Given the description of an element on the screen output the (x, y) to click on. 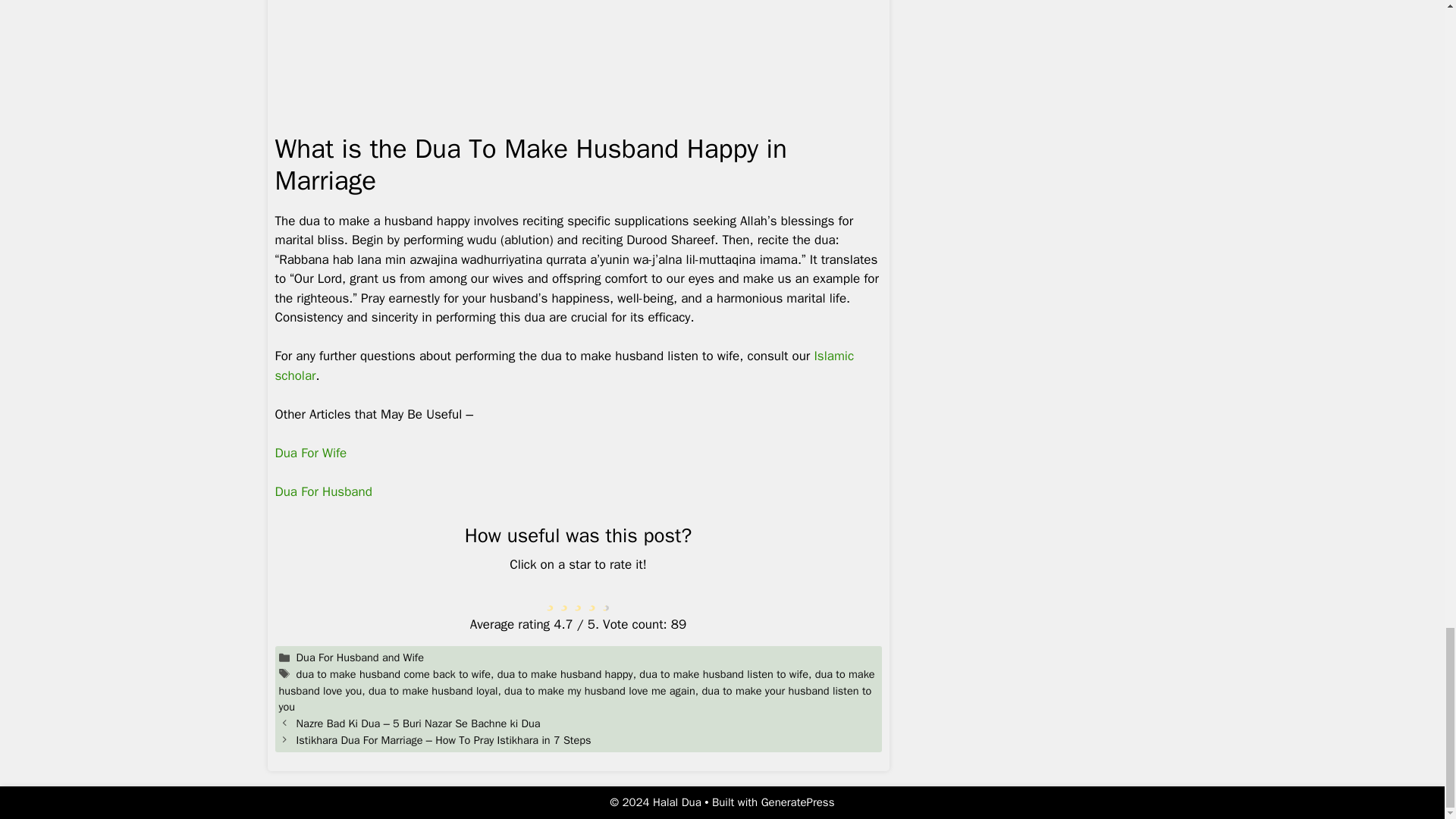
dua to make husband happy (565, 673)
Dua For Wife (310, 453)
dua to make husband come back to wife (393, 673)
dua to make husband loyal (432, 690)
dua to make your husband listen to you (575, 698)
dua to make my husband love me again (599, 690)
dua to make husband love you (577, 682)
Islamic scholar (564, 366)
Dua For Husband and Wife (360, 657)
Dua For Husband (323, 491)
dua to make husband listen to wife (723, 673)
